Given the description of an element on the screen output the (x, y) to click on. 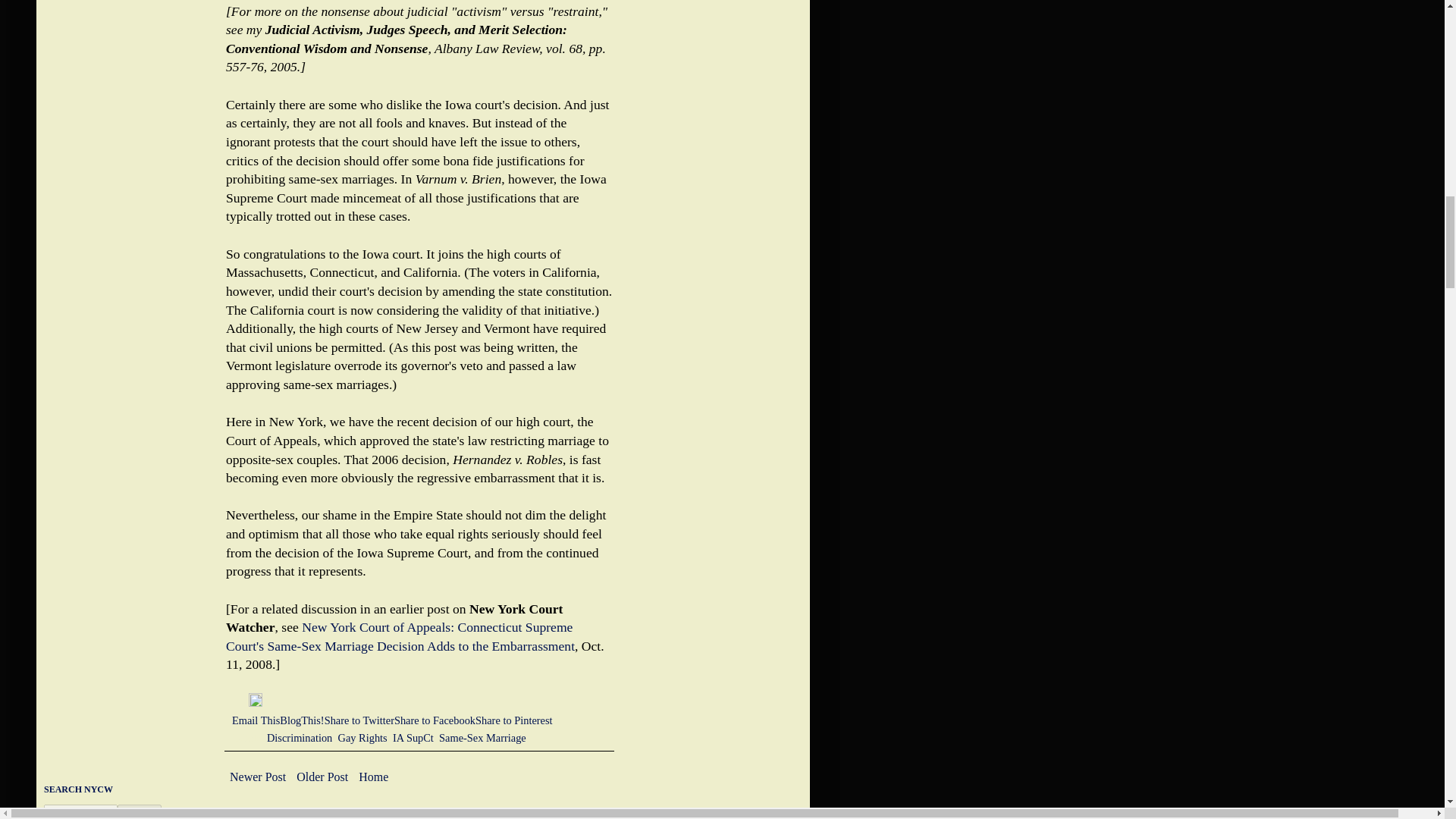
Edit Post (255, 702)
Share to Twitter (359, 720)
Gay Rights (362, 737)
IA SupCt (413, 737)
BlogThis! (301, 720)
Search (139, 811)
Same-Sex Marriage (482, 737)
BlogThis! (301, 720)
Share to Facebook (435, 720)
Older Post (322, 776)
search (139, 811)
Email Post (239, 702)
search (80, 811)
Home (373, 776)
Email This (255, 720)
